Given the description of an element on the screen output the (x, y) to click on. 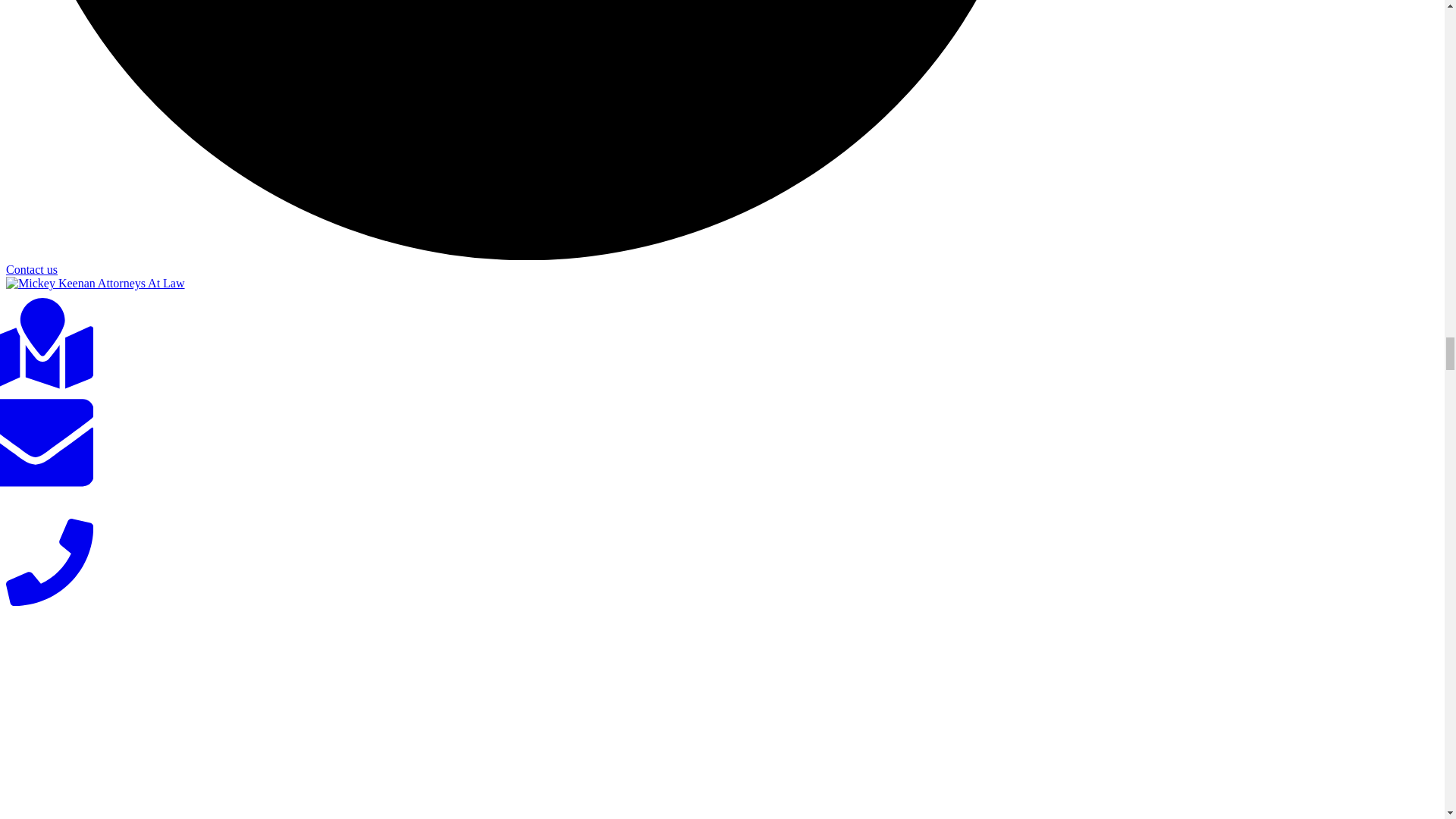
Contact us (31, 269)
